Given the description of an element on the screen output the (x, y) to click on. 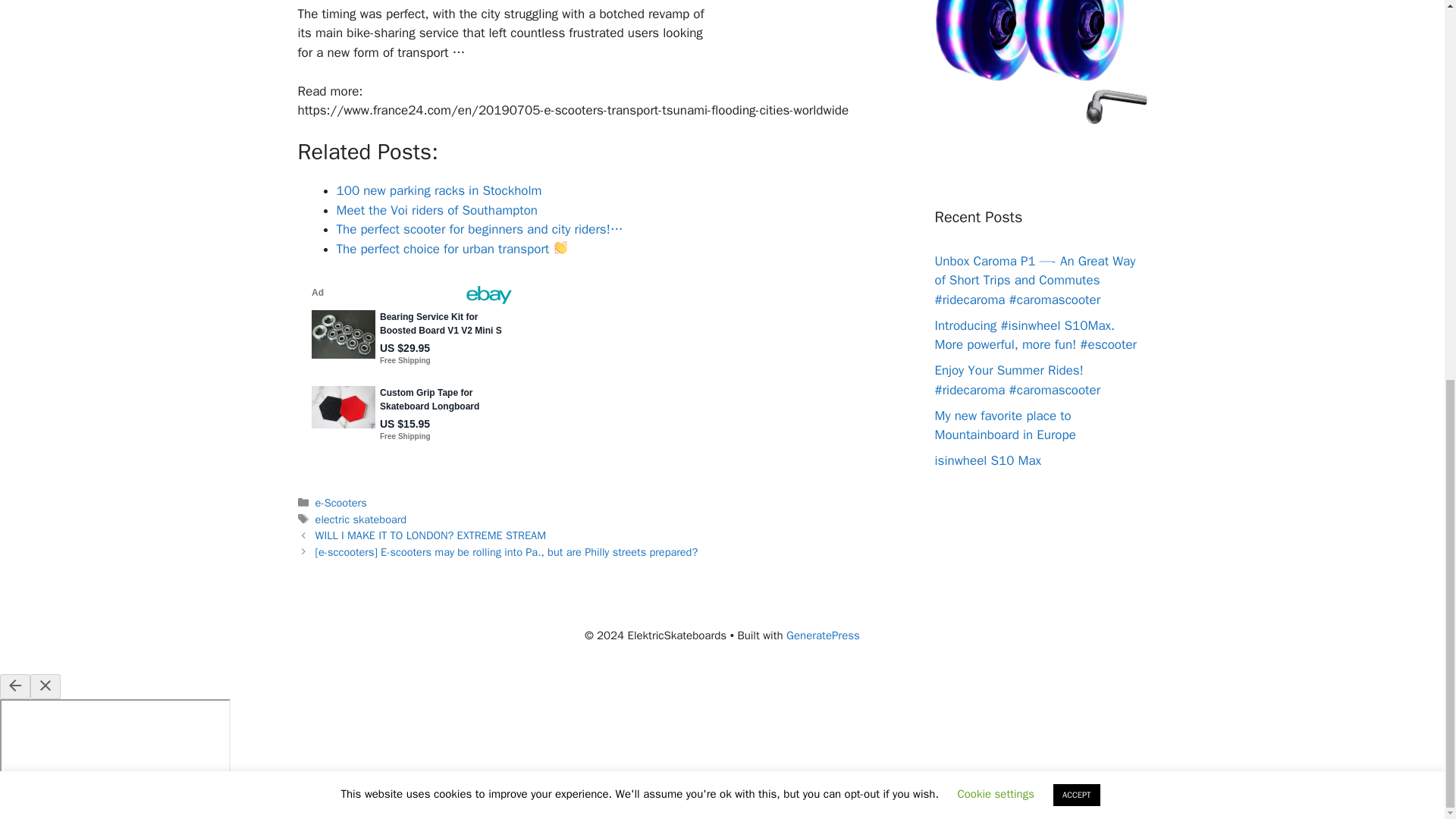
isinwheel S10 Max (987, 460)
The perfect choice for urban transport (451, 248)
Meet the Voi riders of Southampton (436, 210)
100 new parking racks in Stockholm (438, 190)
My new favorite place to Mountainboard in Europe (1004, 425)
electric skateboard (361, 519)
Cookie settings (994, 87)
WILL I MAKE IT TO LONDON? EXTREME STREAM (430, 535)
ACCEPT (1076, 87)
e-Scooters (340, 502)
GeneratePress (823, 635)
